Given the description of an element on the screen output the (x, y) to click on. 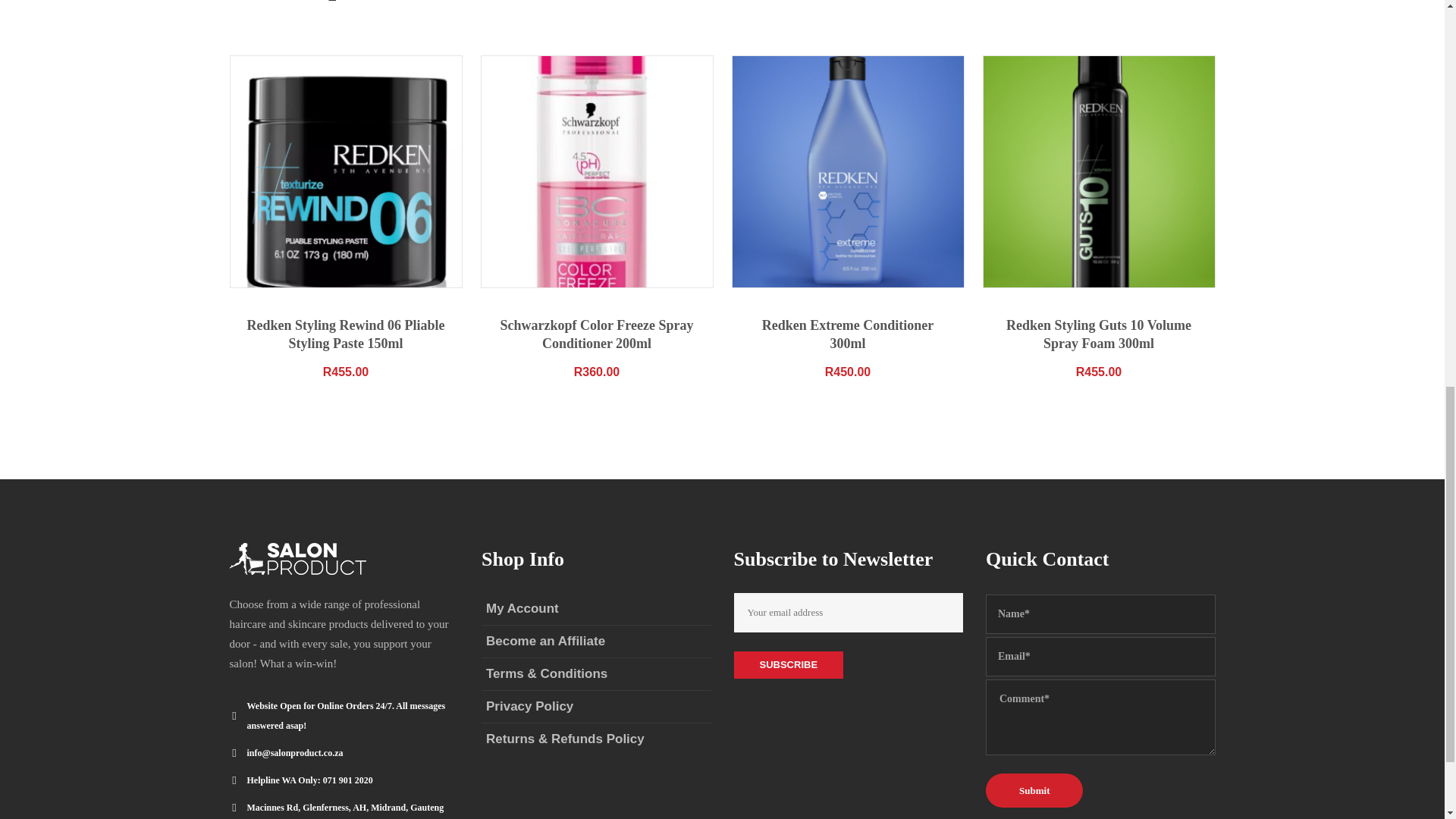
Subscribe (788, 664)
Submit (1034, 790)
